Given the description of an element on the screen output the (x, y) to click on. 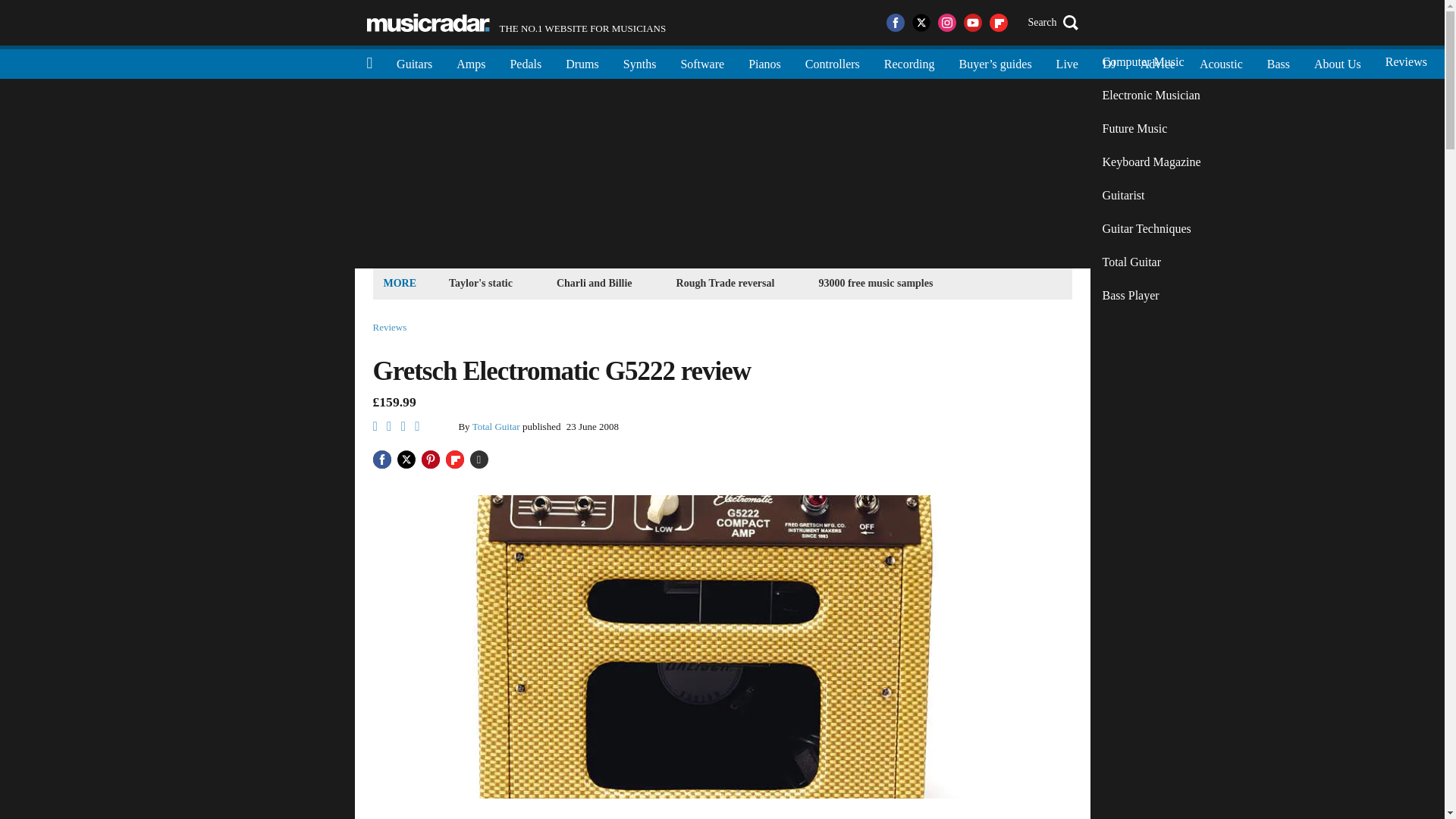
Controllers (832, 61)
Guitars (414, 61)
Reviews (389, 327)
Drums (582, 61)
Amps (470, 61)
Reviews (1406, 61)
Guitar Techniques (1151, 228)
Future Music (1151, 128)
Recording (909, 61)
Bass (1278, 61)
